Given the description of an element on the screen output the (x, y) to click on. 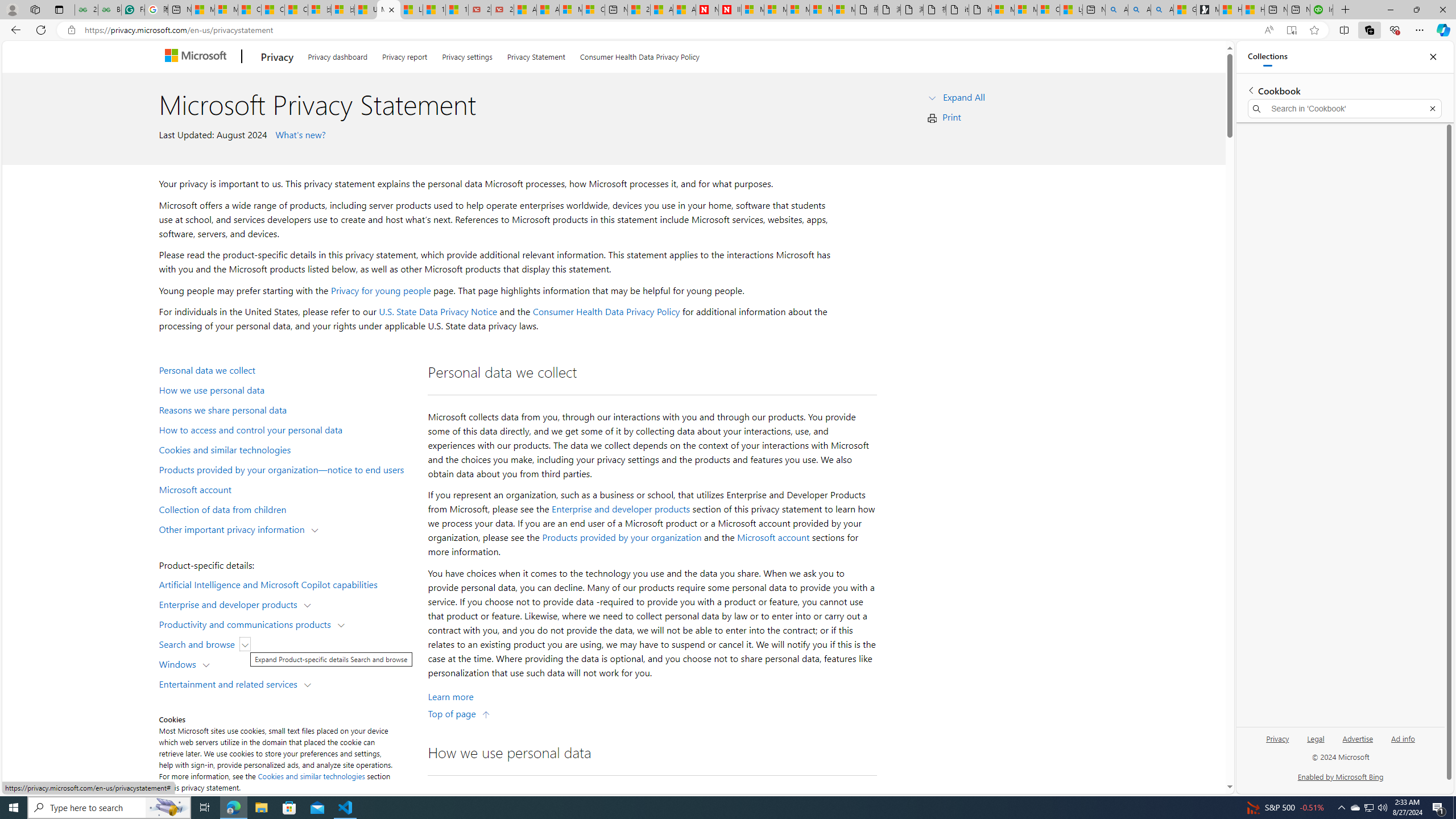
Entertainment and related services (230, 683)
Collection of data from children (287, 508)
Enterprise and developer products (620, 508)
Print (951, 116)
Back to list of collections (1250, 90)
Privacy report (404, 54)
Artificial Intelligence and Microsoft Copilot capabilities (287, 583)
Cookies and similar technologies (311, 775)
Search and browse (199, 643)
Lifestyle - MSN (411, 9)
